Given the description of an element on the screen output the (x, y) to click on. 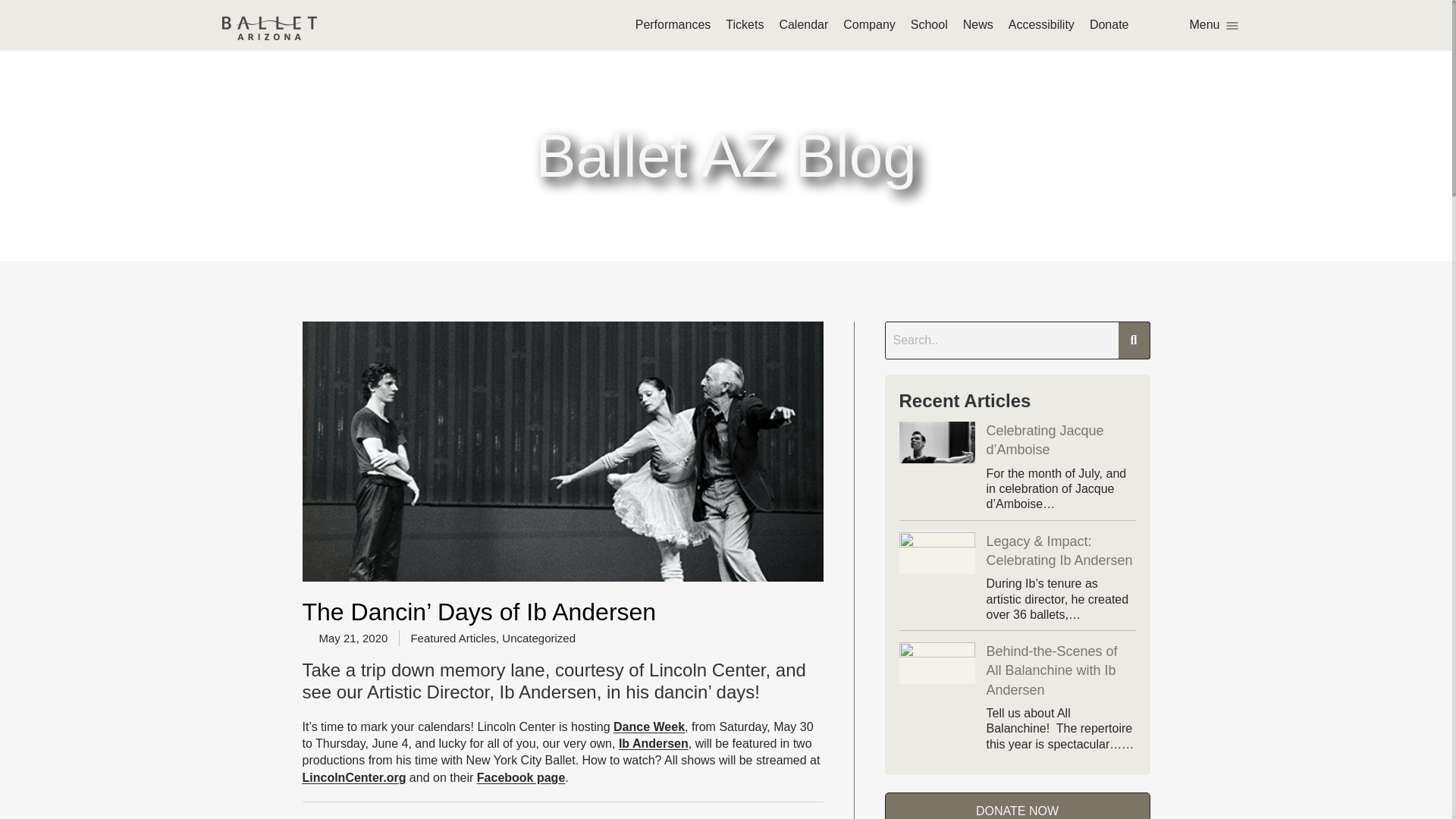
Featured Articles (453, 637)
Uncategorized (538, 637)
Facebook page (520, 777)
Menu (1213, 24)
Performances (672, 24)
Dance Week (648, 726)
Donate (1109, 24)
School (929, 24)
Calendar (803, 24)
Company (869, 24)
